Given the description of an element on the screen output the (x, y) to click on. 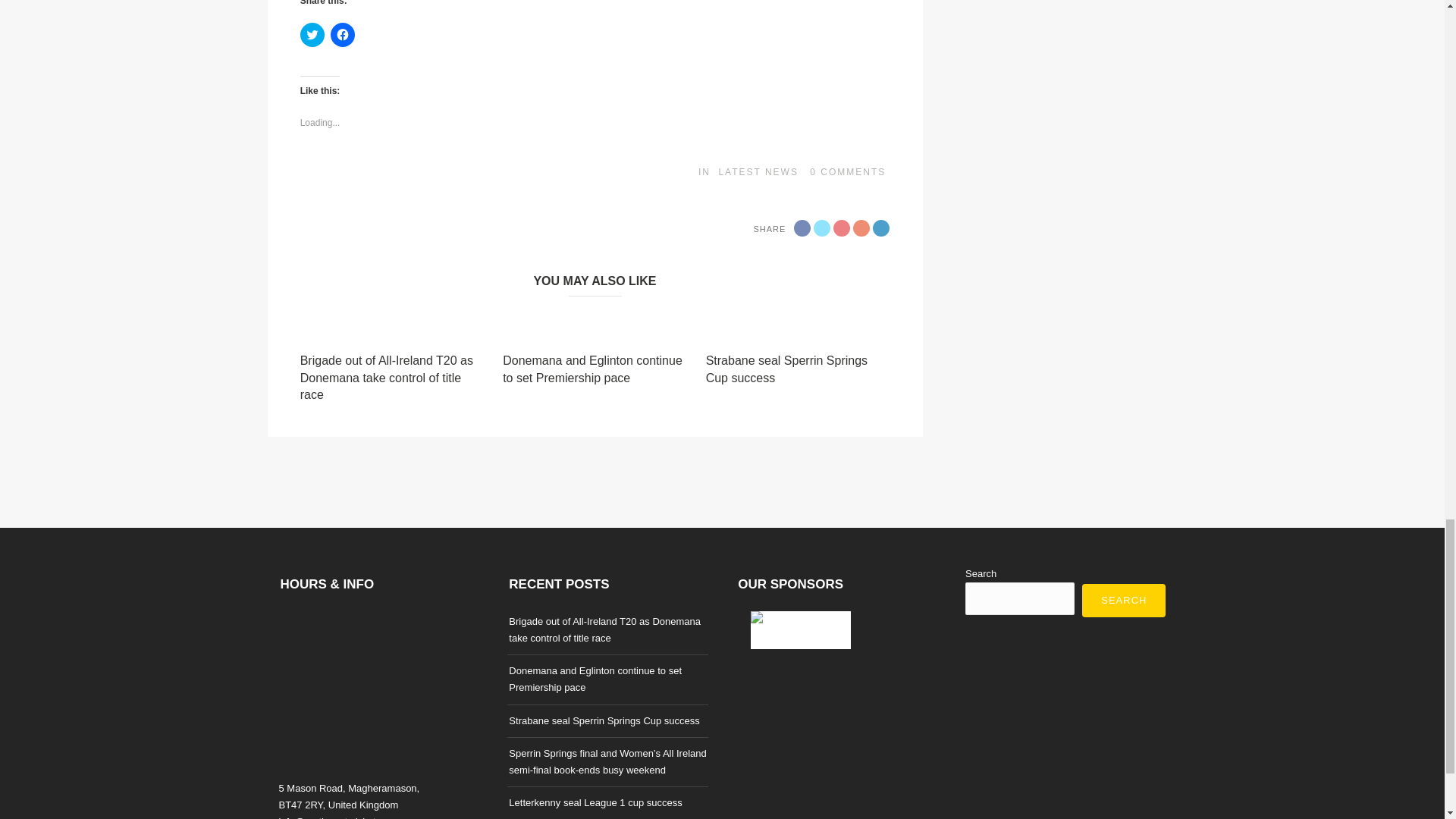
Click to share on Facebook (342, 34)
Google Maps Embed (379, 692)
Facebook (801, 228)
Pinterest (861, 228)
Click to share on Twitter (311, 34)
Twitter (821, 228)
LinkedIn (880, 228)
